Given the description of an element on the screen output the (x, y) to click on. 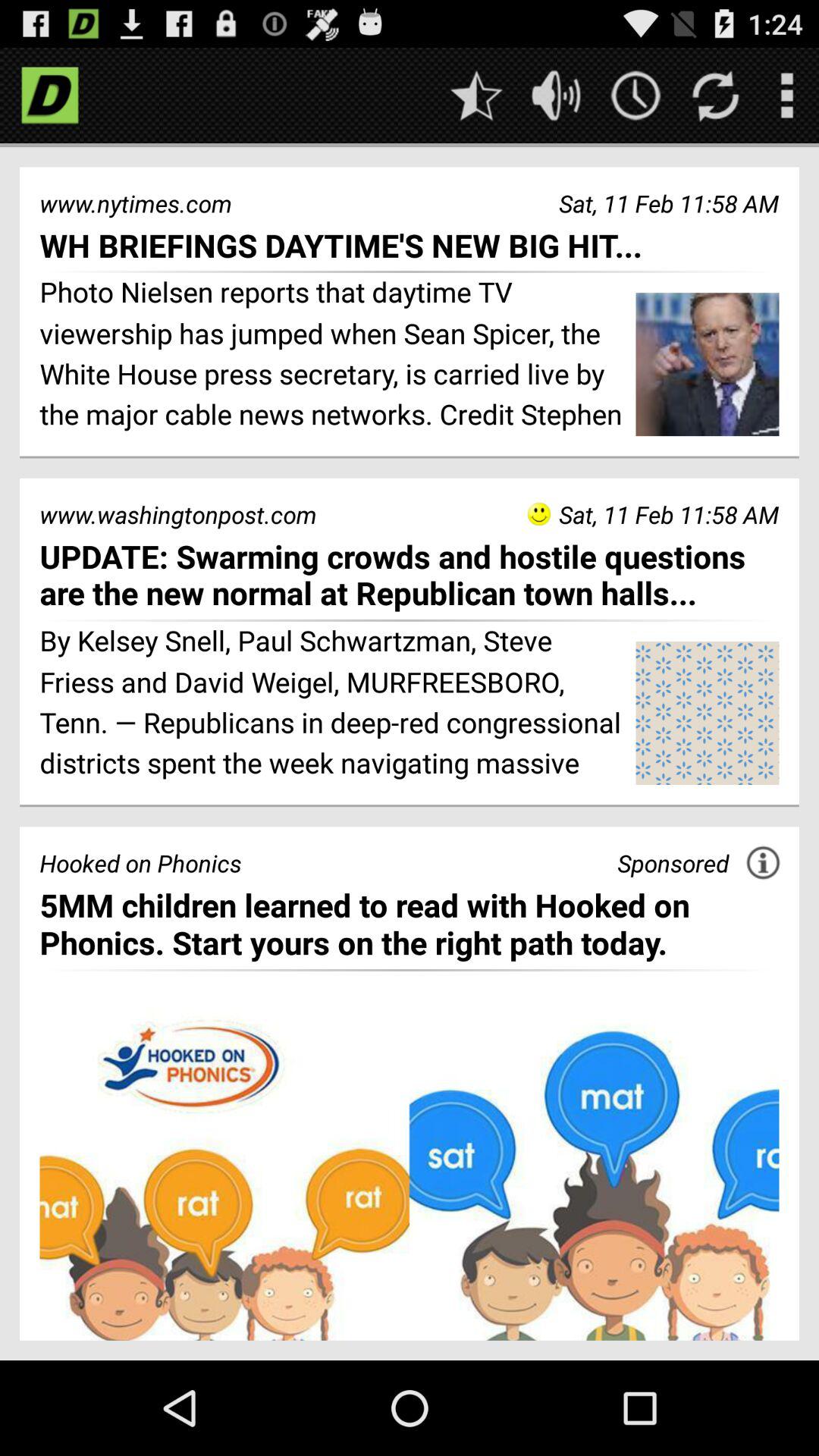
click icon above the 5mm children learned (673, 862)
